Given the description of an element on the screen output the (x, y) to click on. 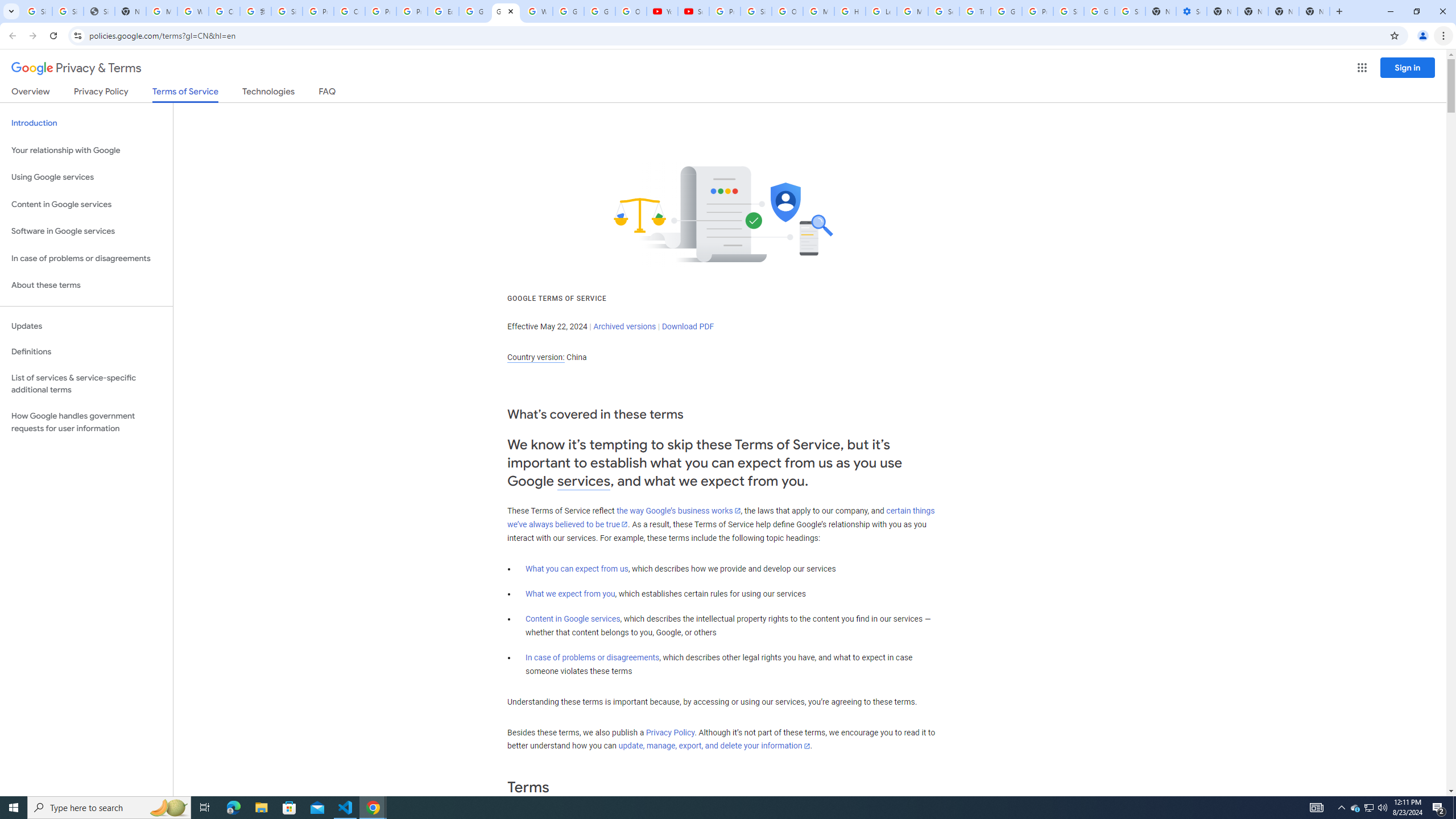
Edit and view right-to-left text - Google Docs Editors Help (443, 11)
services (583, 480)
Create your Google Account (223, 11)
Create your Google Account (349, 11)
What you can expect from us (576, 568)
